Given the description of an element on the screen output the (x, y) to click on. 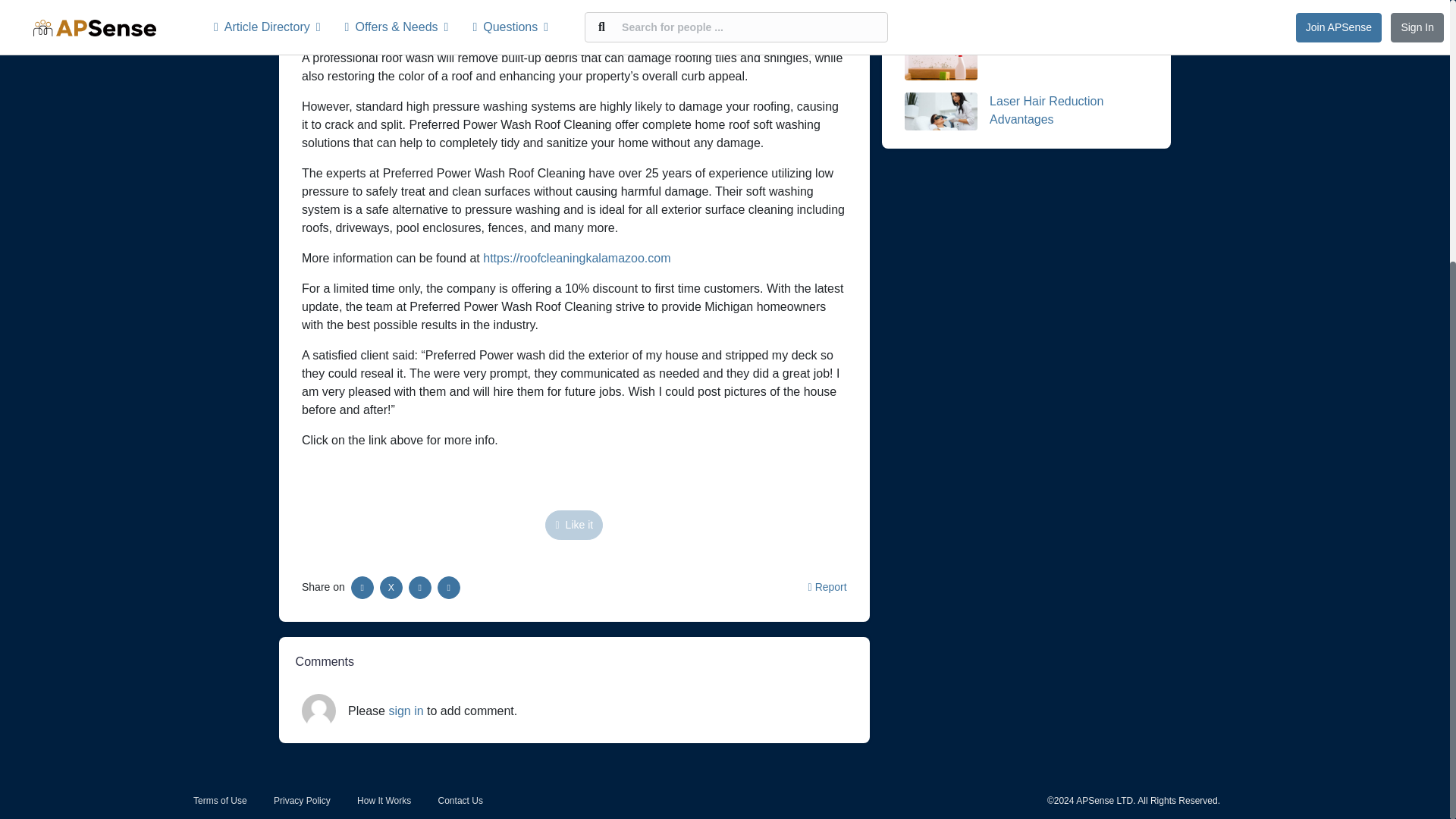
Terms of Use (220, 800)
X (391, 587)
Like it (573, 524)
Home Mold Removal Service (1068, 51)
Laser Hair Reduction Advantages (1046, 110)
Report (827, 586)
sign in (405, 710)
